Given the description of an element on the screen output the (x, y) to click on. 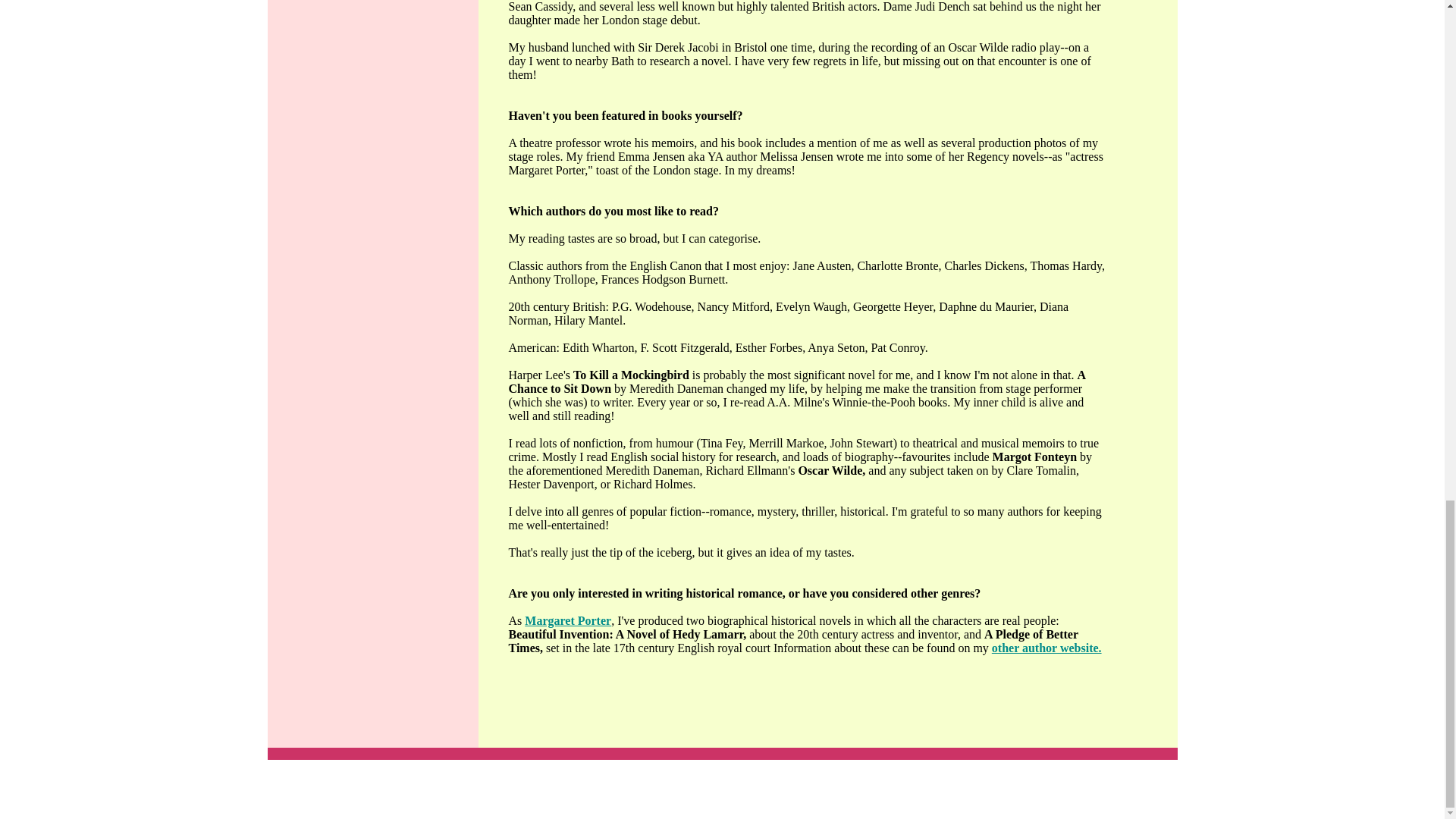
other author website. (1046, 647)
Margaret Porter (567, 620)
